Given the description of an element on the screen output the (x, y) to click on. 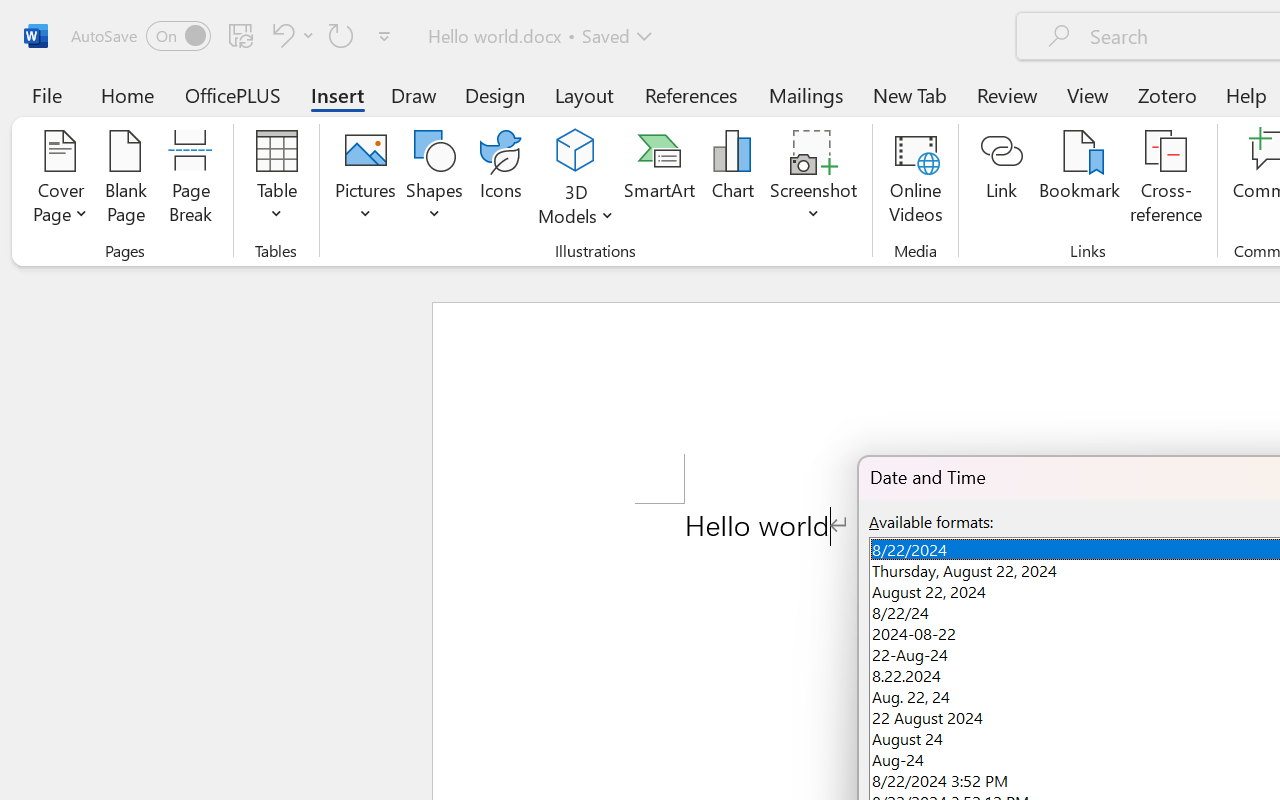
Link (1001, 179)
Review (1007, 94)
Draw (413, 94)
Icons (500, 179)
Zotero (1166, 94)
Can't Repeat (341, 35)
Can't Undo (290, 35)
View (1087, 94)
AutoSave (140, 35)
References (690, 94)
Layout (584, 94)
Design (495, 94)
Insert (337, 94)
